Given the description of an element on the screen output the (x, y) to click on. 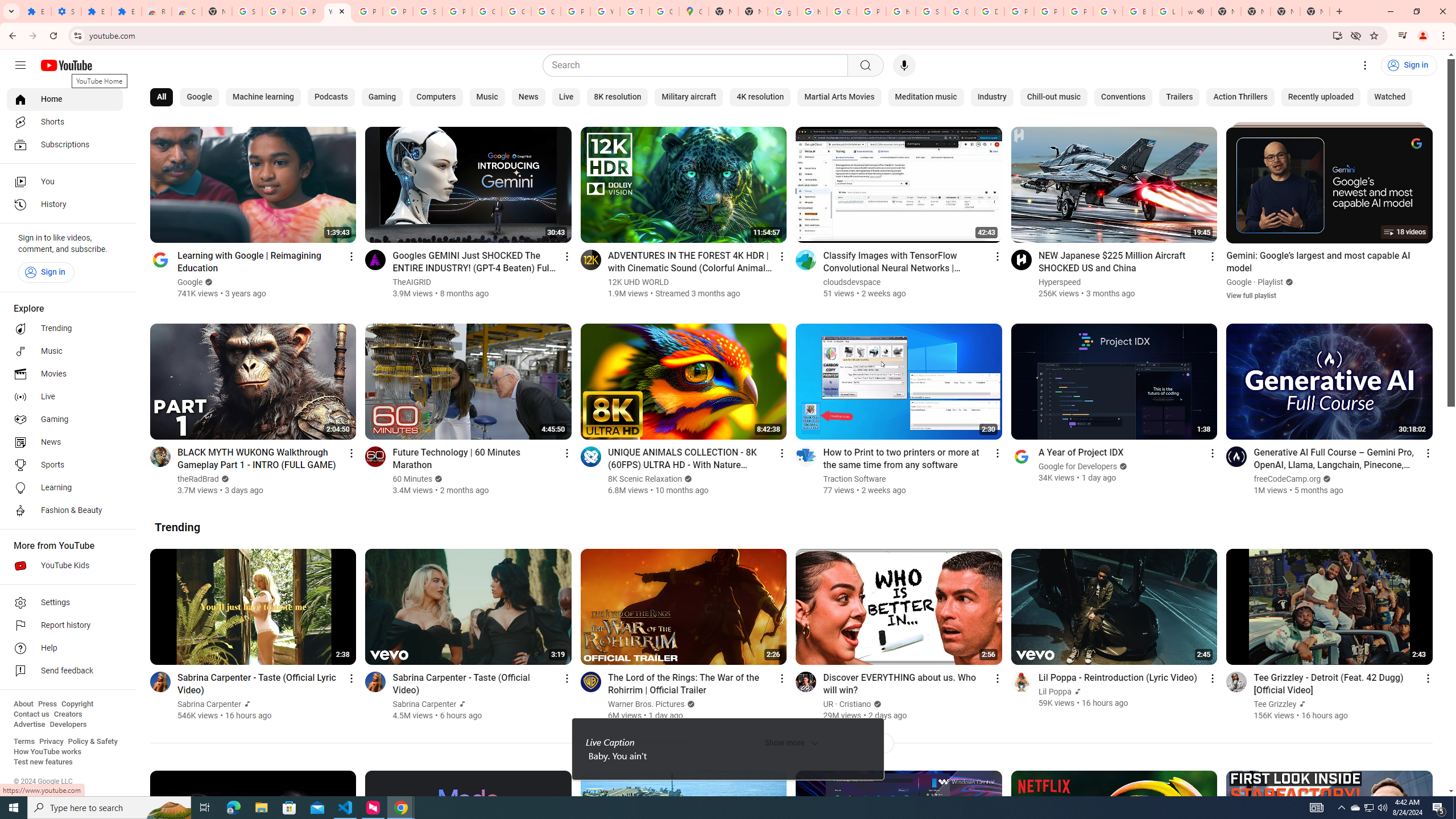
News (528, 97)
Send feedback (64, 671)
Martial Arts Movies (838, 97)
Control your music, videos, and more (1402, 35)
Settings (65, 11)
Privacy Help Center - Policies Help (1018, 11)
Install YouTube (1336, 35)
60 Minutes (413, 478)
View full playlist (1250, 294)
